Given the description of an element on the screen output the (x, y) to click on. 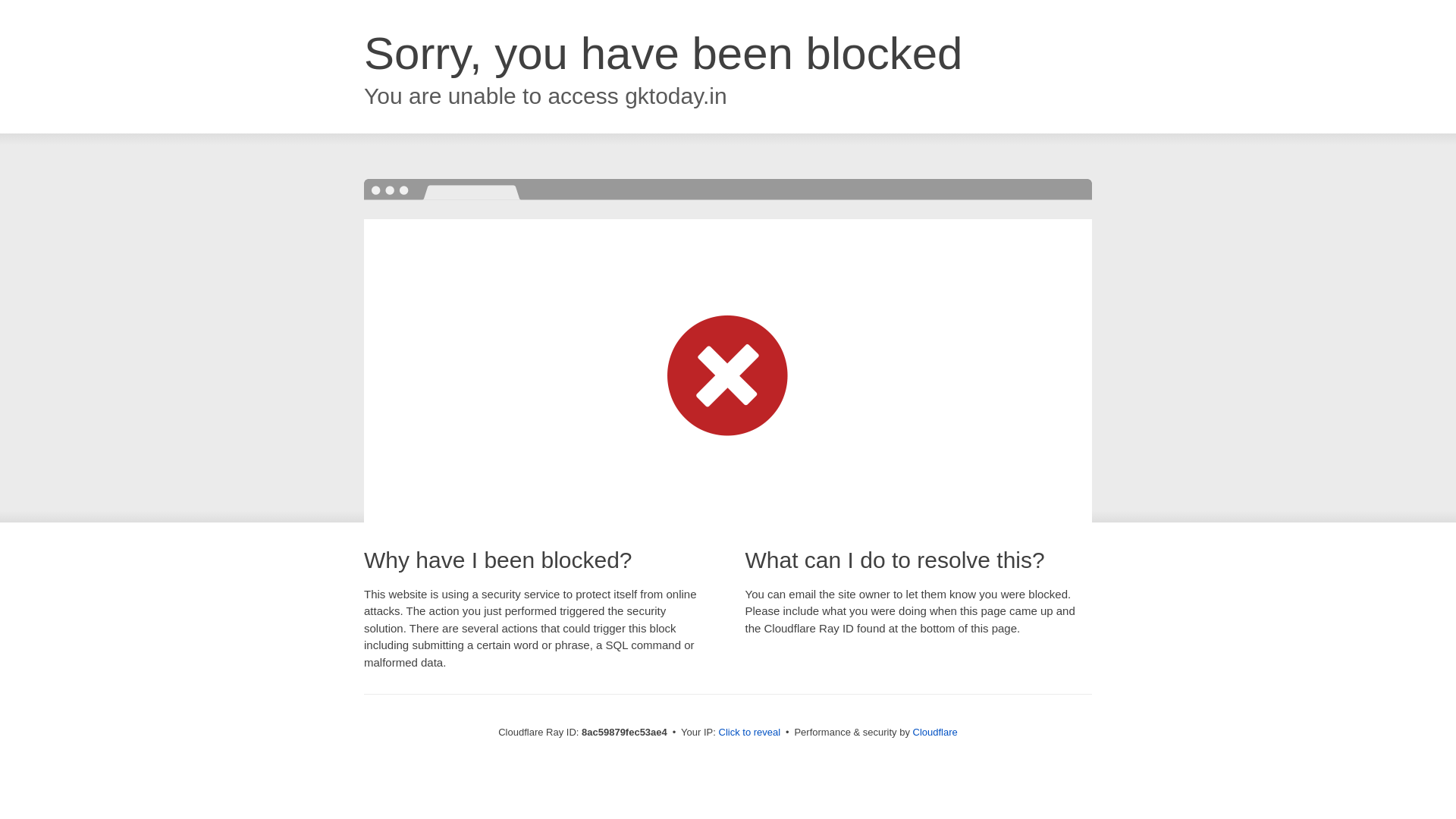
Click to reveal (749, 732)
Cloudflare (935, 731)
